Given the description of an element on the screen output the (x, y) to click on. 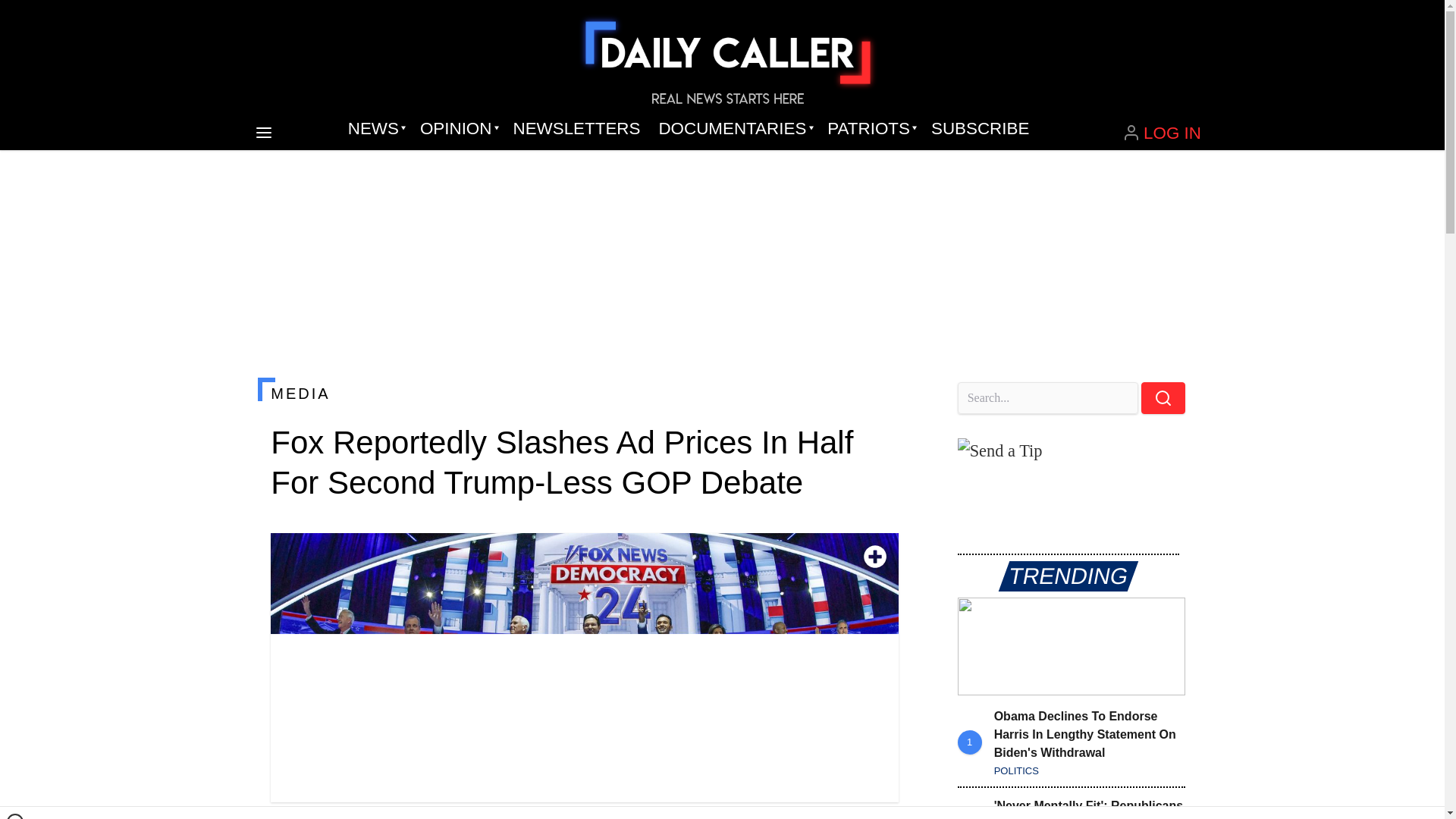
PATRIOTS (869, 128)
Toggle fullscreen (874, 556)
MEDIA (584, 393)
NEWS (374, 128)
NEWSLETTERS (576, 128)
Close window (14, 816)
OPINION (456, 128)
SUBSCRIBE (979, 128)
DOCUMENTARIES (733, 128)
